Given the description of an element on the screen output the (x, y) to click on. 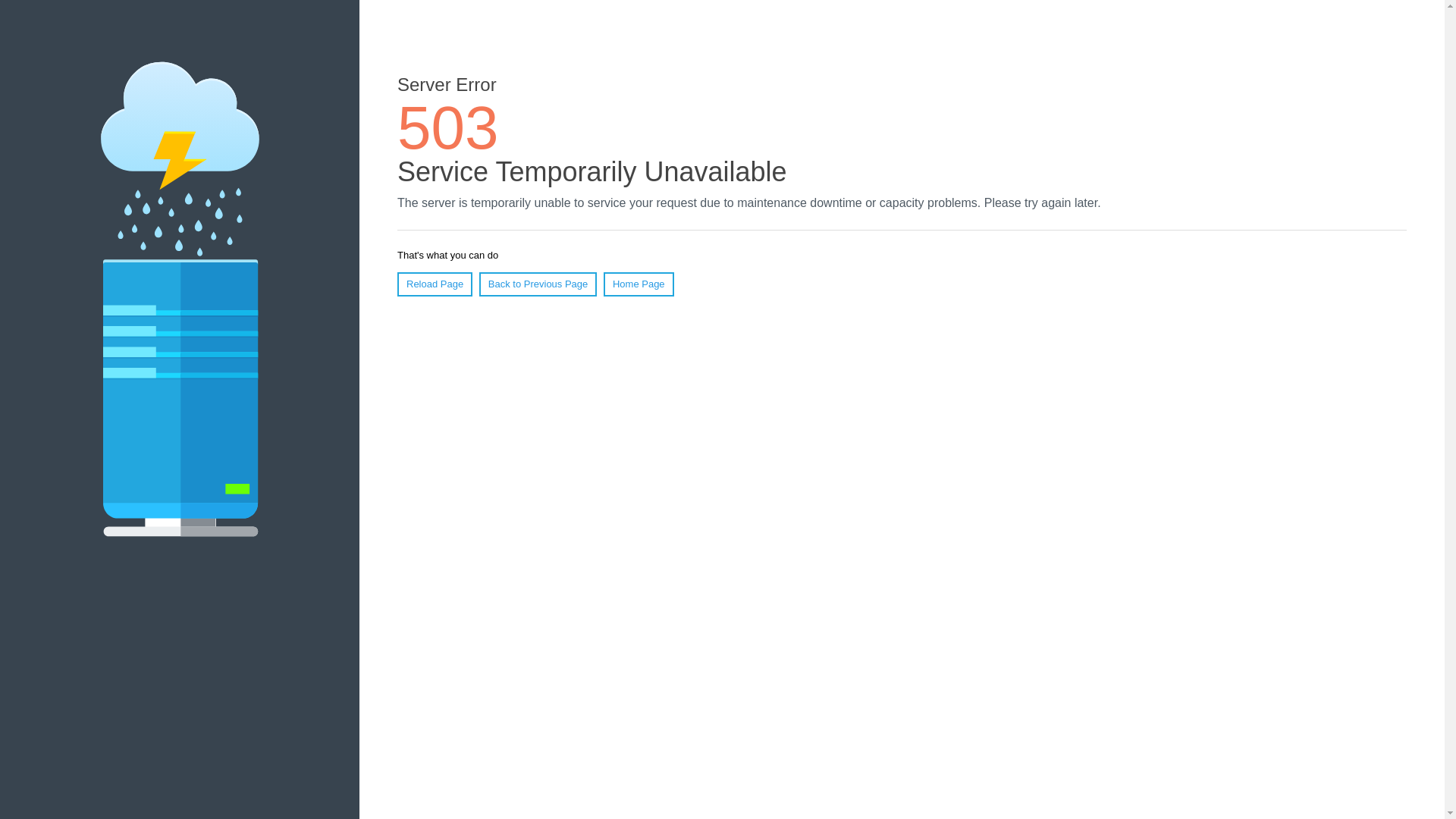
Back to Previous Page (537, 283)
Reload Page (434, 283)
Home Page (639, 283)
